Given the description of an element on the screen output the (x, y) to click on. 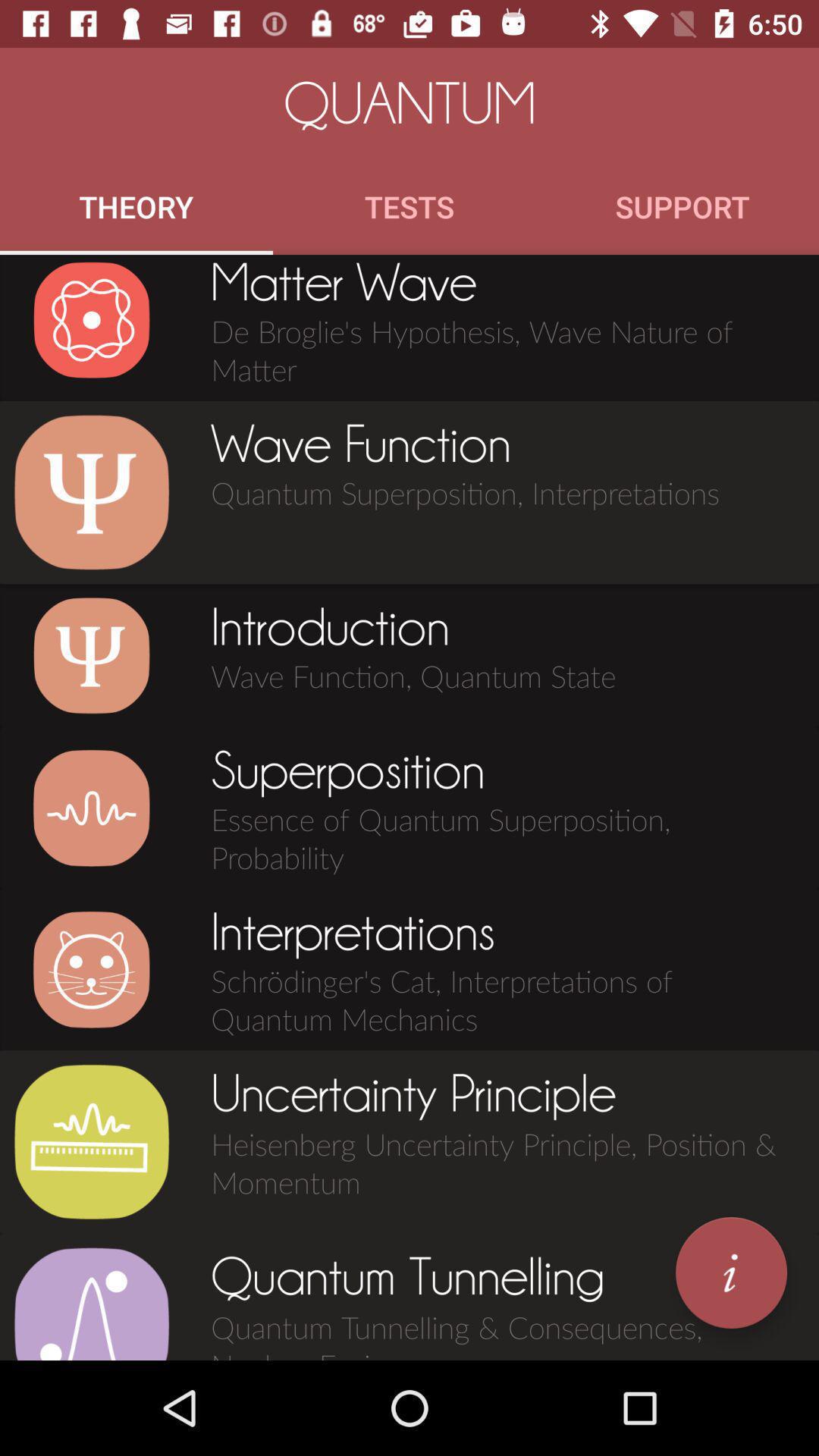
show interpretations (91, 969)
